Given the description of an element on the screen output the (x, y) to click on. 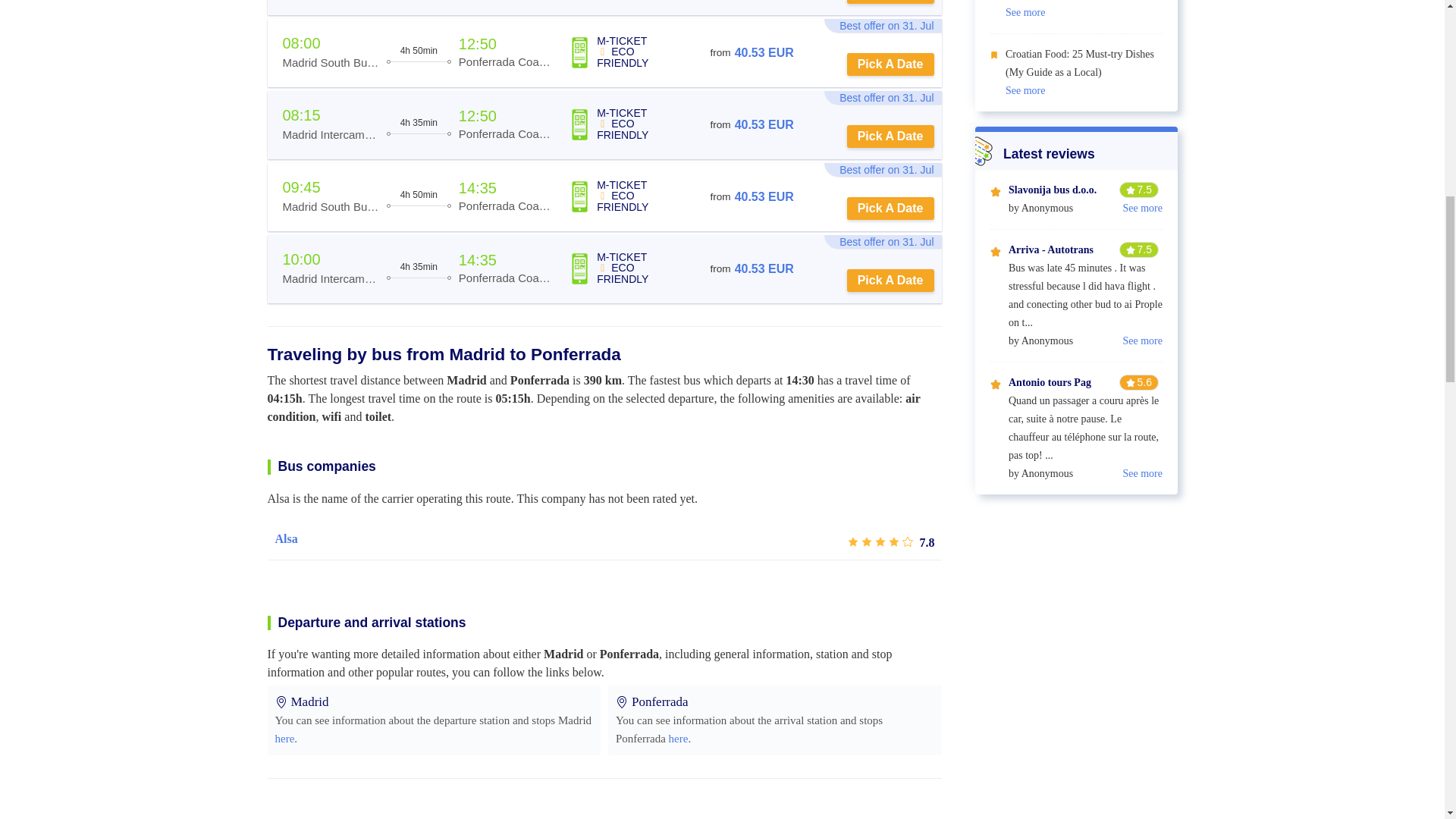
here (284, 738)
here (678, 738)
Alsa (286, 538)
